Given the description of an element on the screen output the (x, y) to click on. 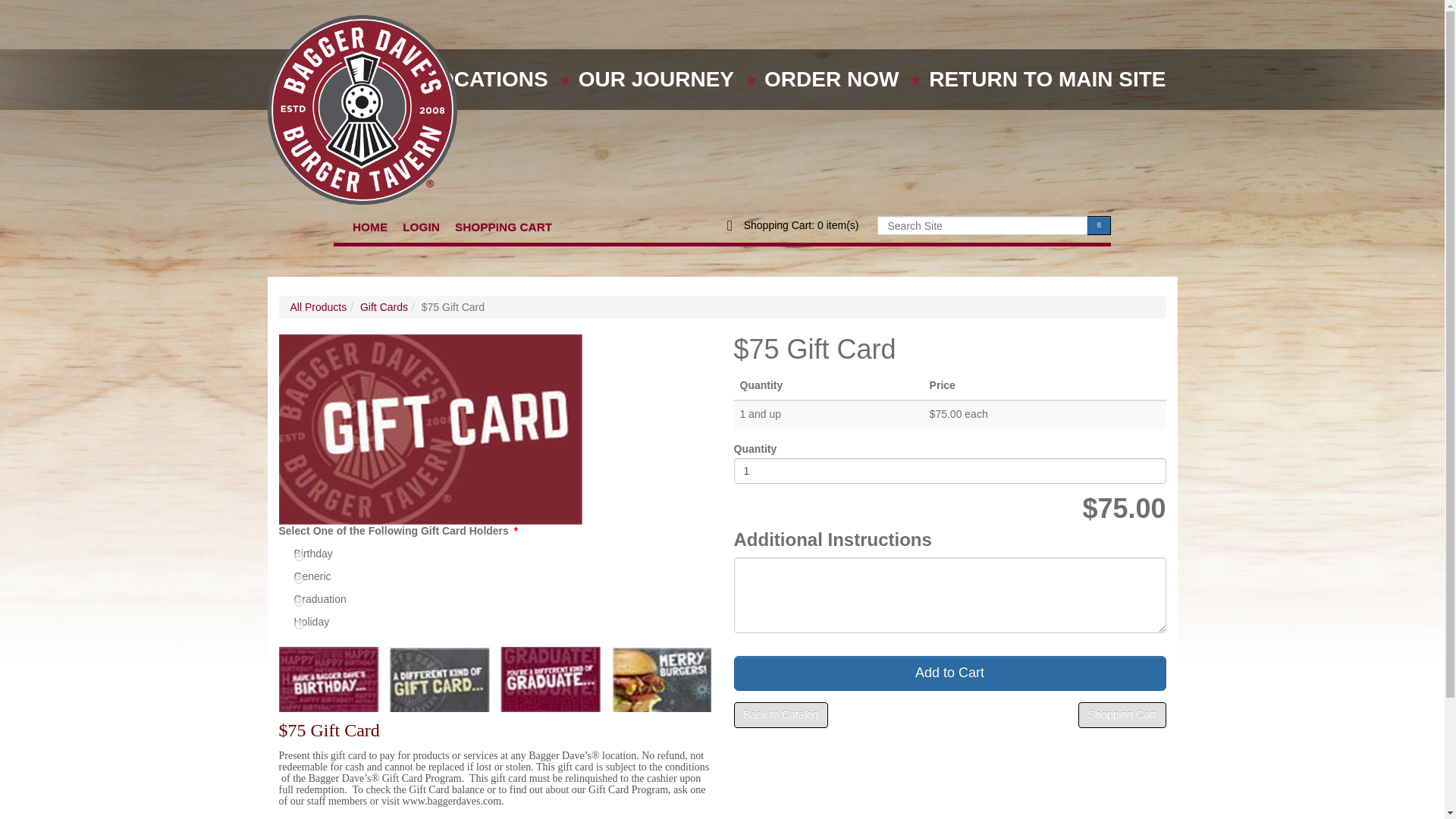
Back to Catalog (780, 714)
Add to Cart (949, 673)
All Products (317, 306)
RETURN TO MAIN SITE (1047, 79)
Generic (299, 578)
1 (949, 470)
Gift Cards (383, 306)
ORDER NOW (831, 79)
Add to Cart (949, 673)
OUR JOURNEY (655, 79)
Birthday (299, 556)
LOCATIONS (486, 79)
LOGIN (420, 219)
Shopping Cart (1122, 714)
HOME (369, 219)
